Given the description of an element on the screen output the (x, y) to click on. 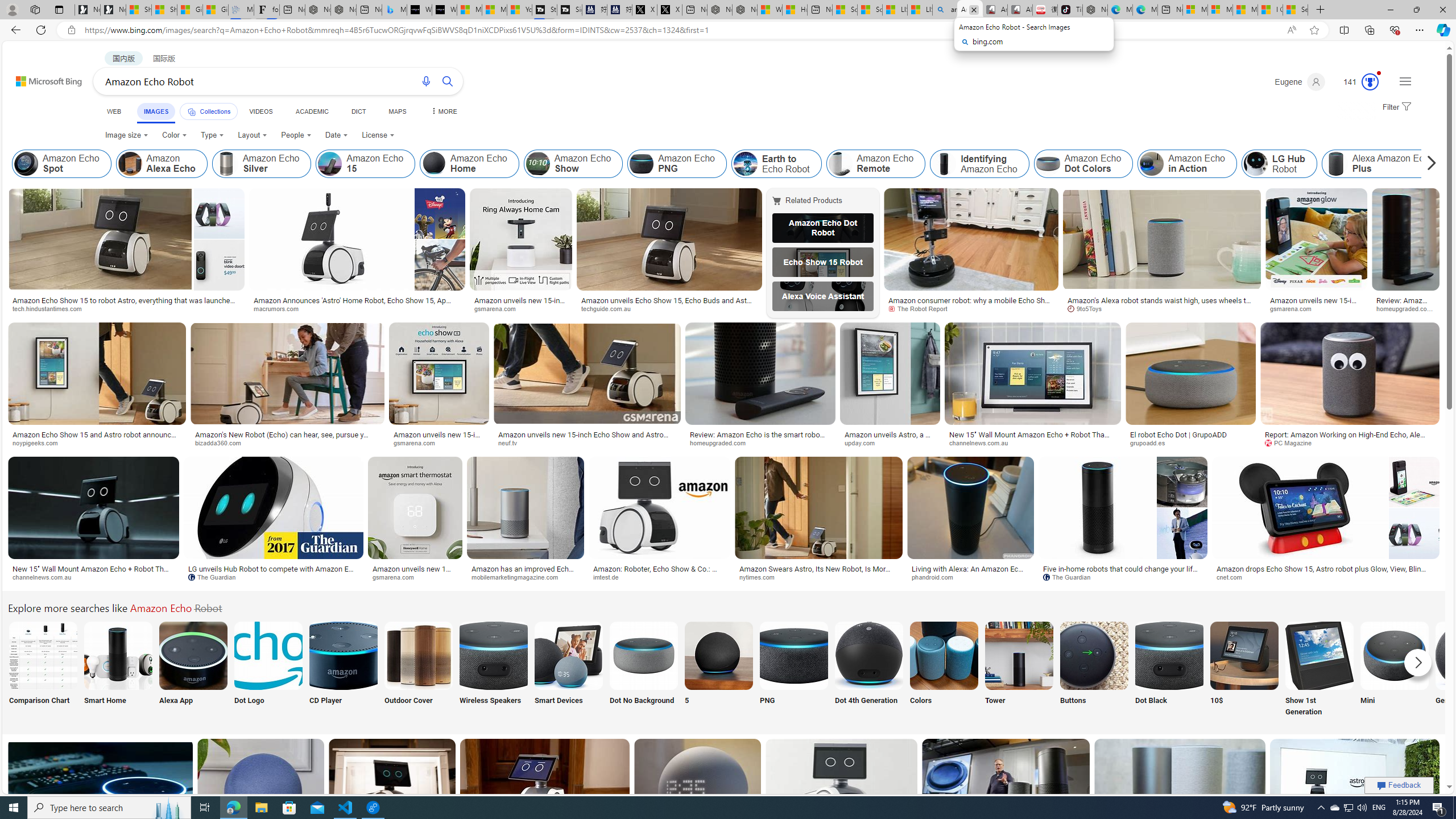
bizadda360.com (221, 442)
Amazon Echo Show 15 and Astro robot announced | NoypiGeeks (96, 438)
Smart Devices (568, 669)
noypigeeks.com (39, 442)
Gilma and Hector both pose tropical trouble for Hawaii (215, 9)
homeupgraded.com (722, 442)
Scroll right (1428, 163)
Colors (944, 669)
Settings and quick links (1404, 80)
